Given the description of an element on the screen output the (x, y) to click on. 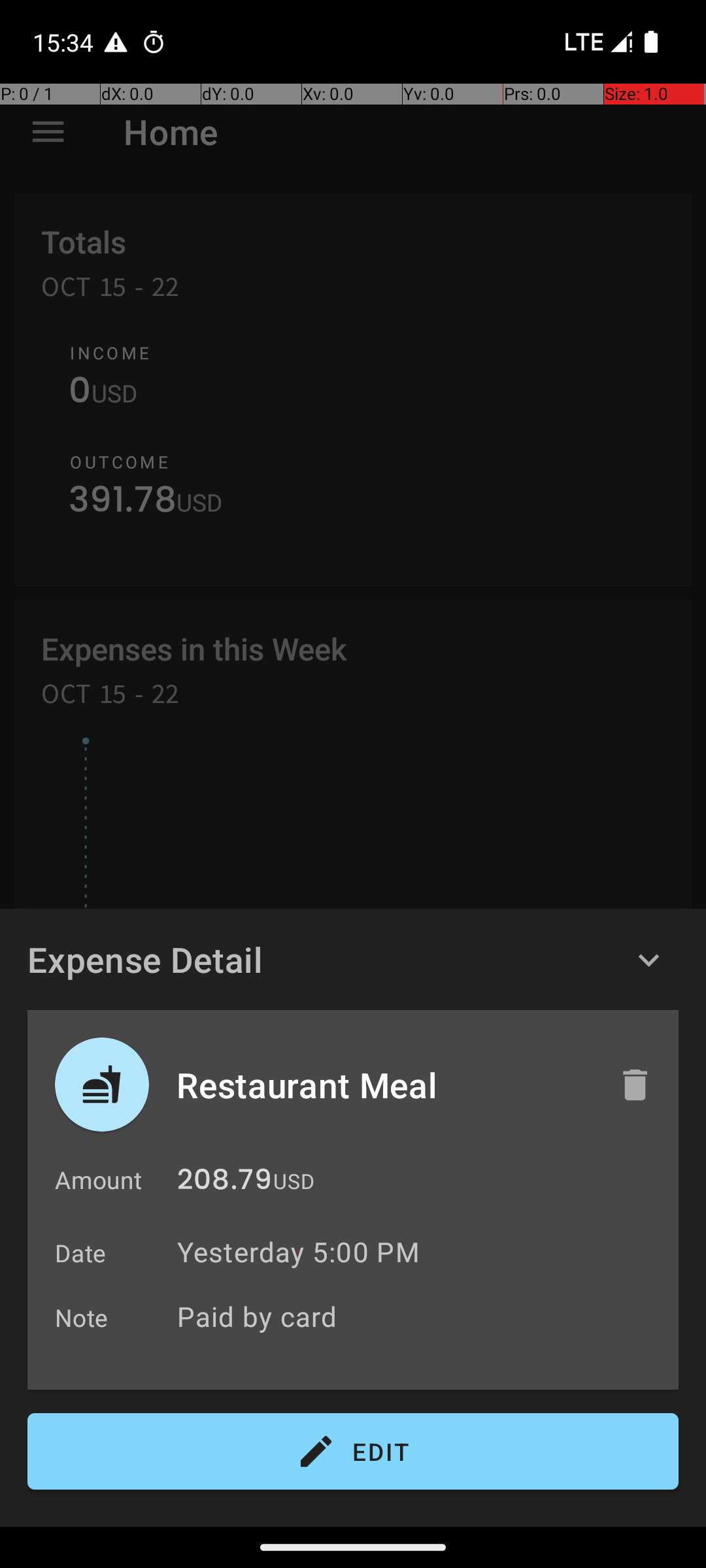
Restaurant Meal Element type: android.widget.TextView (383, 1084)
208.79 Element type: android.widget.TextView (224, 1182)
Yesterday 5:00 PM Element type: android.widget.TextView (298, 1251)
Paid by card Element type: android.widget.TextView (420, 1315)
